Given the description of an element on the screen output the (x, y) to click on. 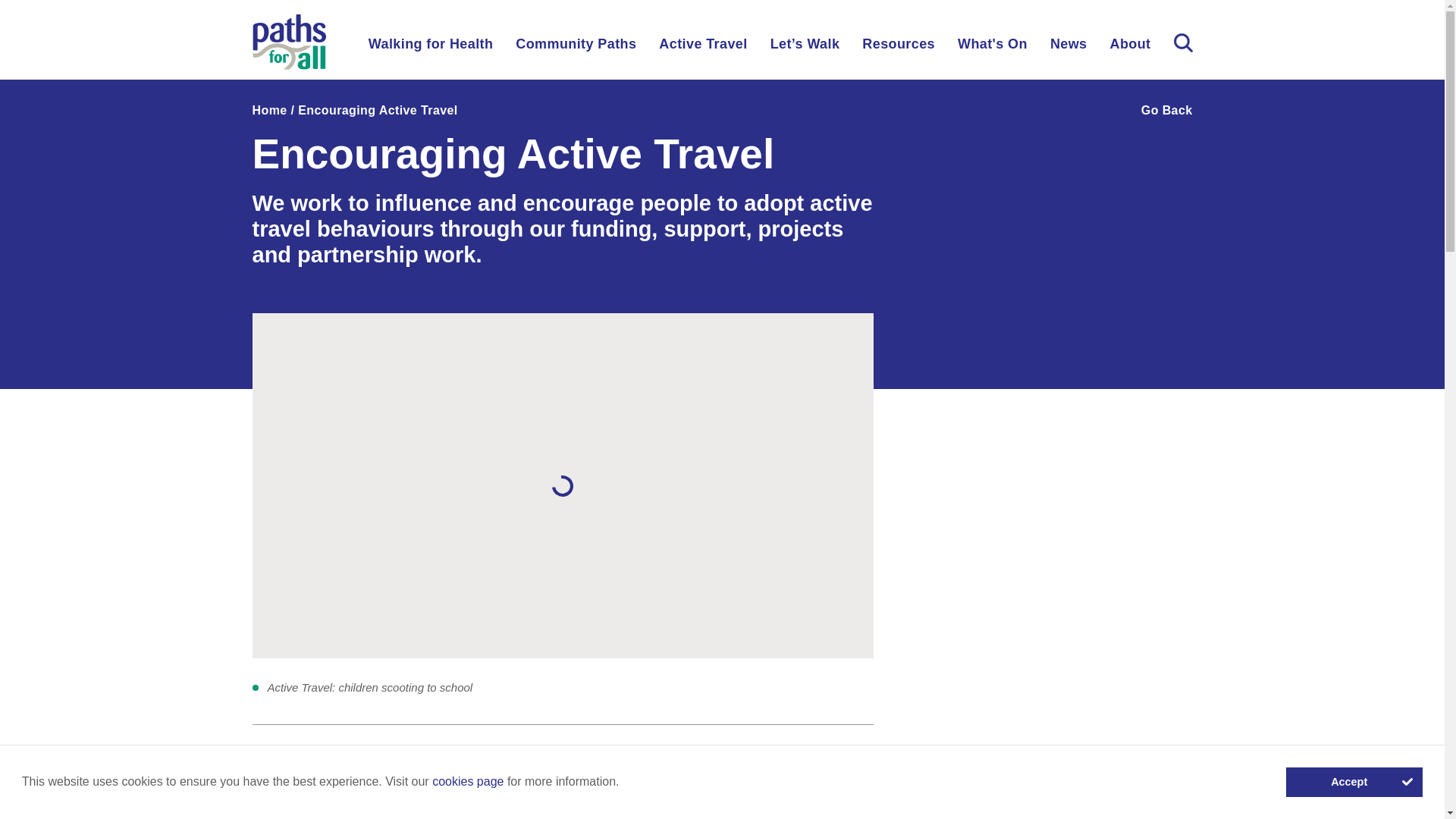
Community Paths (575, 49)
News (1068, 49)
Active Travel (702, 49)
About (1130, 49)
Go Back (1144, 110)
What's On (992, 49)
Resources (897, 49)
cookies page (467, 780)
Walking for Health (430, 49)
Accept (1353, 782)
